Given the description of an element on the screen output the (x, y) to click on. 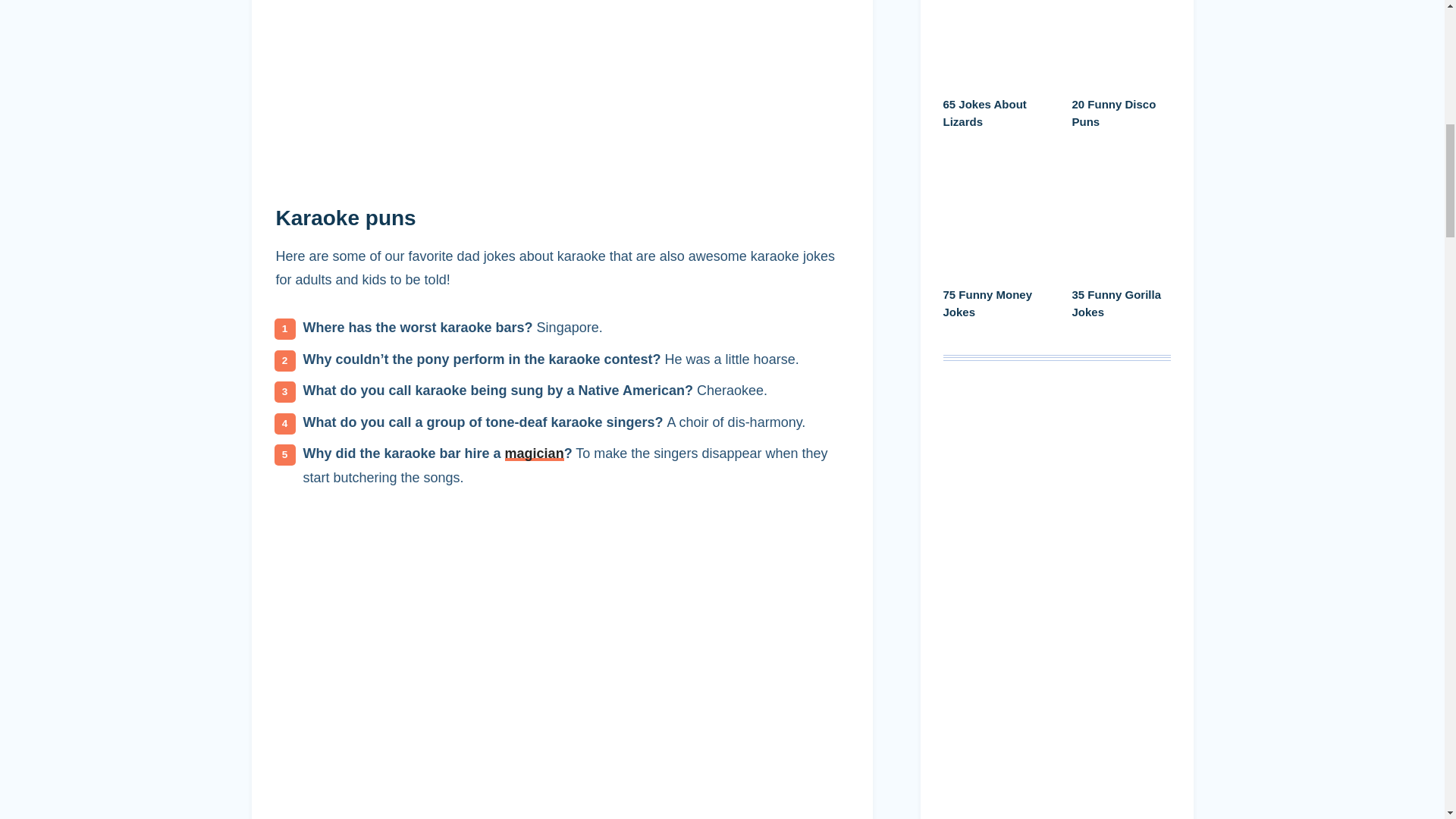
magician (534, 453)
magician (534, 453)
